Given the description of an element on the screen output the (x, y) to click on. 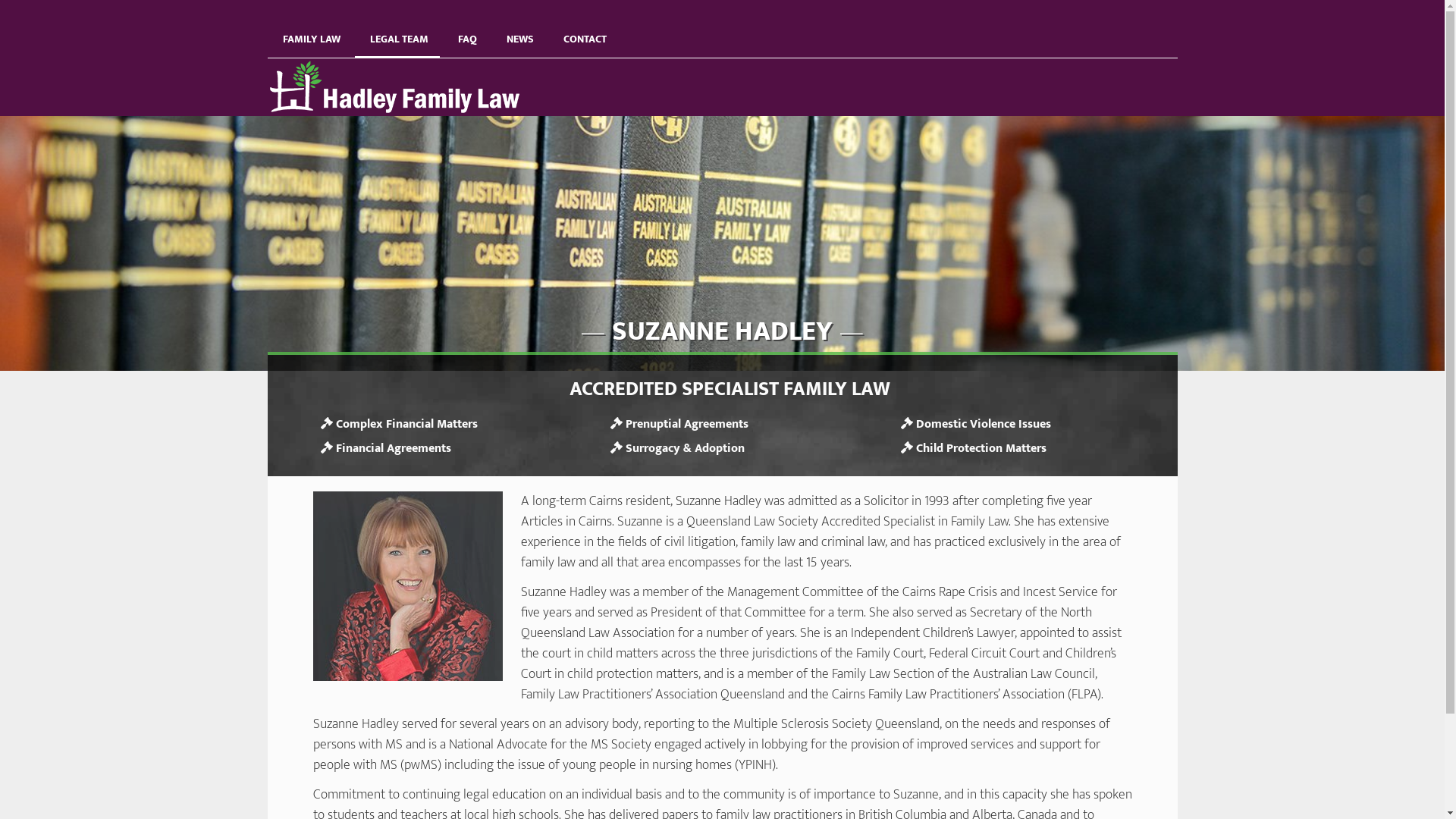
Home Element type: text (282, 66)
FAMILY LAW Element type: text (308, 28)
FAQ Element type: text (465, 28)
HADLEY FAMILY LAW Element type: text (402, 87)
LEGAL TEAM Element type: text (396, 28)
NEWS Element type: text (518, 28)
CONTACT Element type: text (582, 28)
